Given the description of an element on the screen output the (x, y) to click on. 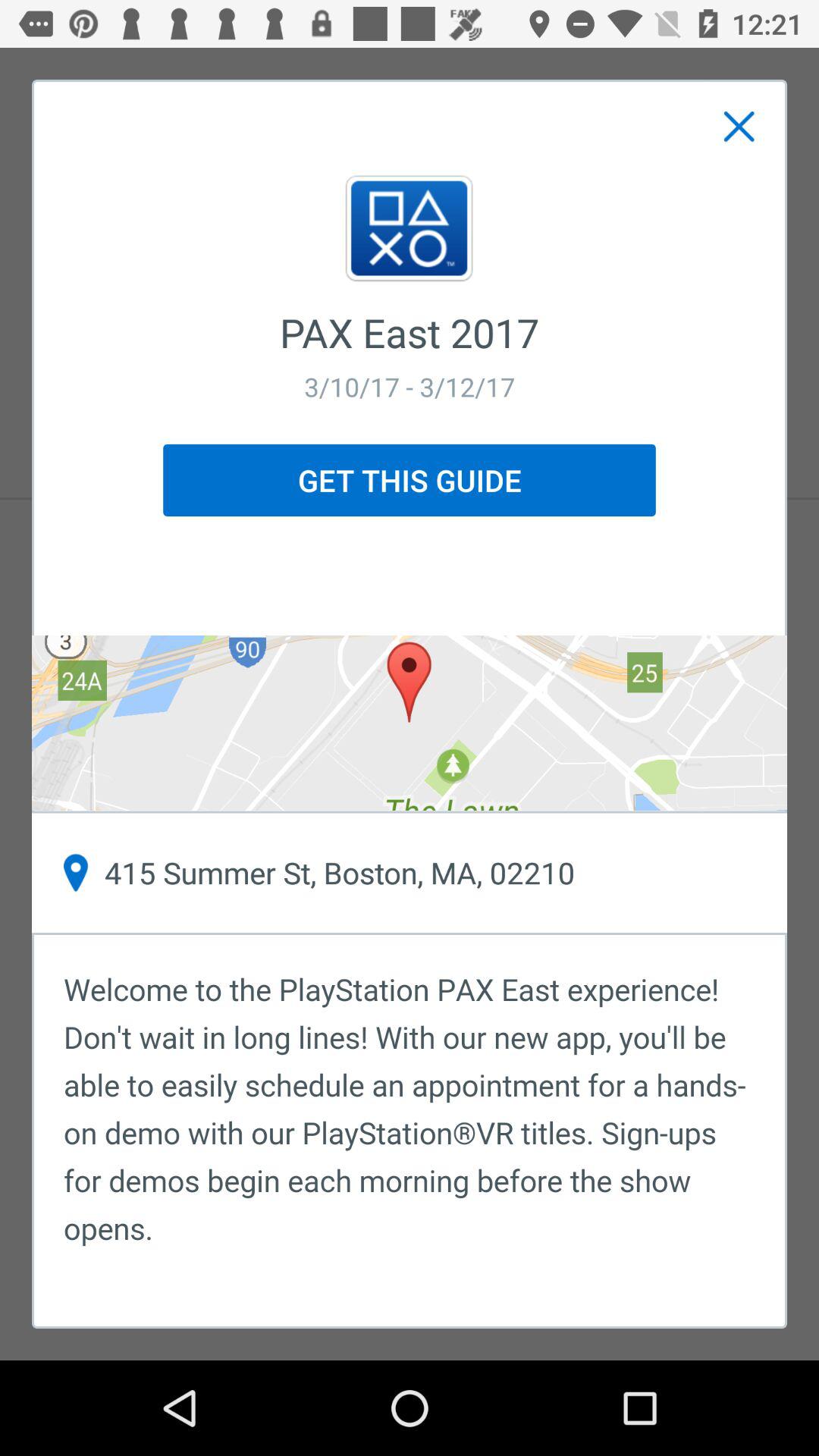
scroll until get this guide (409, 480)
